Given the description of an element on the screen output the (x, y) to click on. 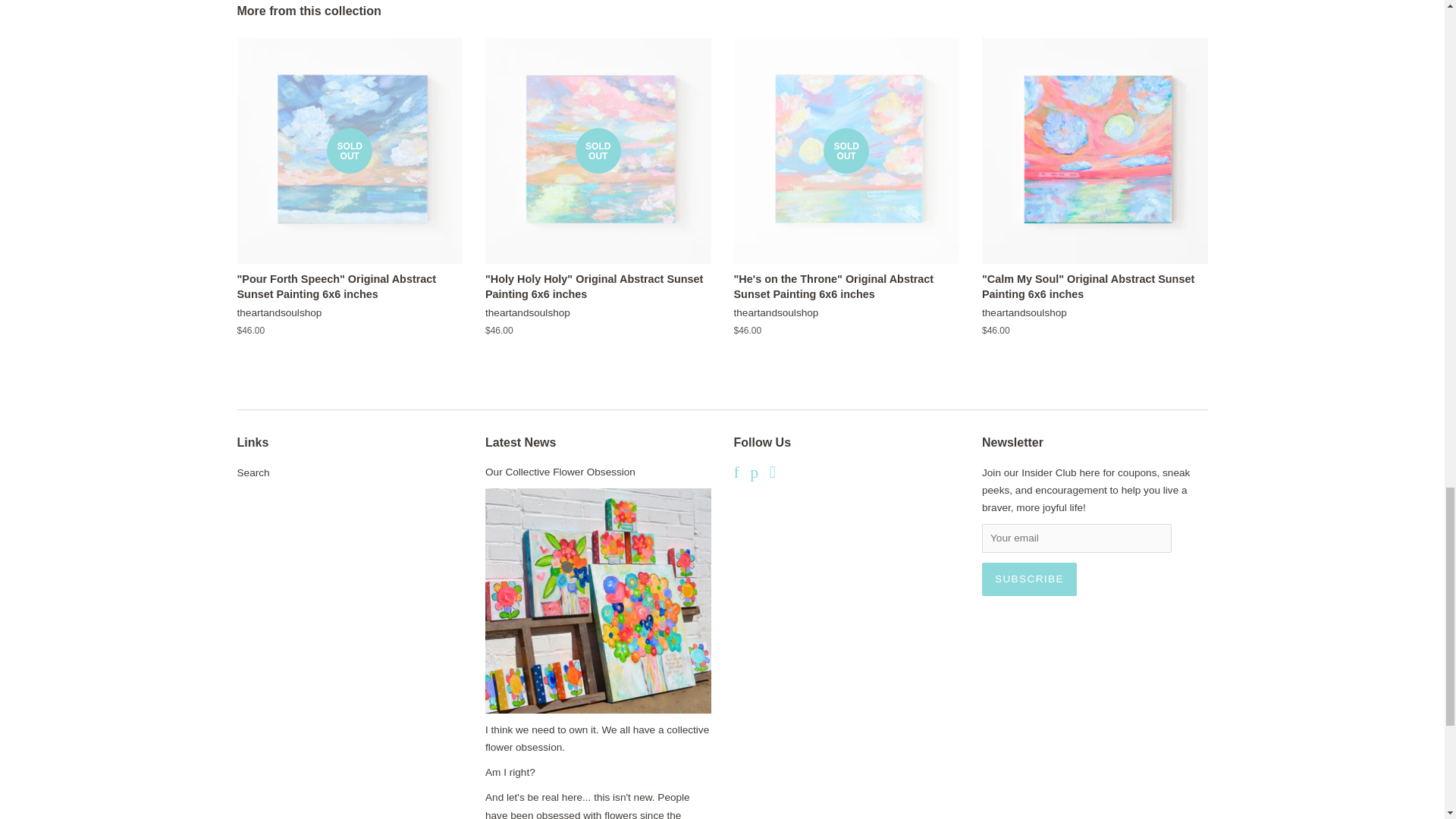
Subscribe (1029, 579)
